Given the description of an element on the screen output the (x, y) to click on. 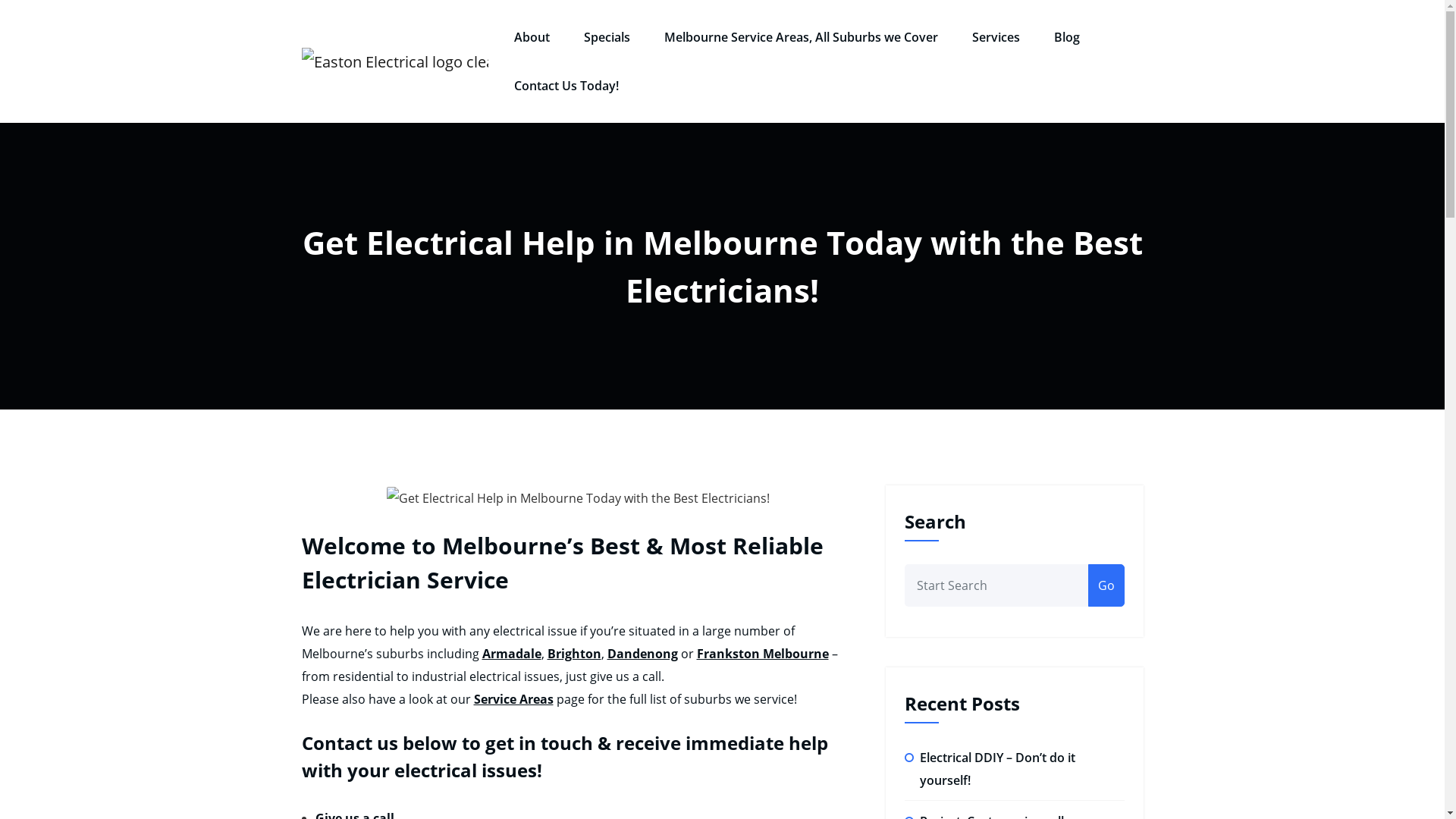
Service Areas Element type: text (512, 698)
Specials Element type: text (606, 37)
About Element type: text (531, 37)
Melbourne Service Areas, All Suburbs we Cover Element type: text (801, 37)
Contact Us Today! Element type: text (566, 86)
Go Element type: text (1105, 585)
Armadale Element type: text (511, 653)
Frankston Melbourne Element type: text (762, 653)
Melbourne Electrician Services Victoria Element type: text (712, 75)
Dandenong Element type: text (641, 653)
Blog Element type: text (1066, 37)
Services Element type: text (995, 37)
Brighton Element type: text (574, 653)
